Given the description of an element on the screen output the (x, y) to click on. 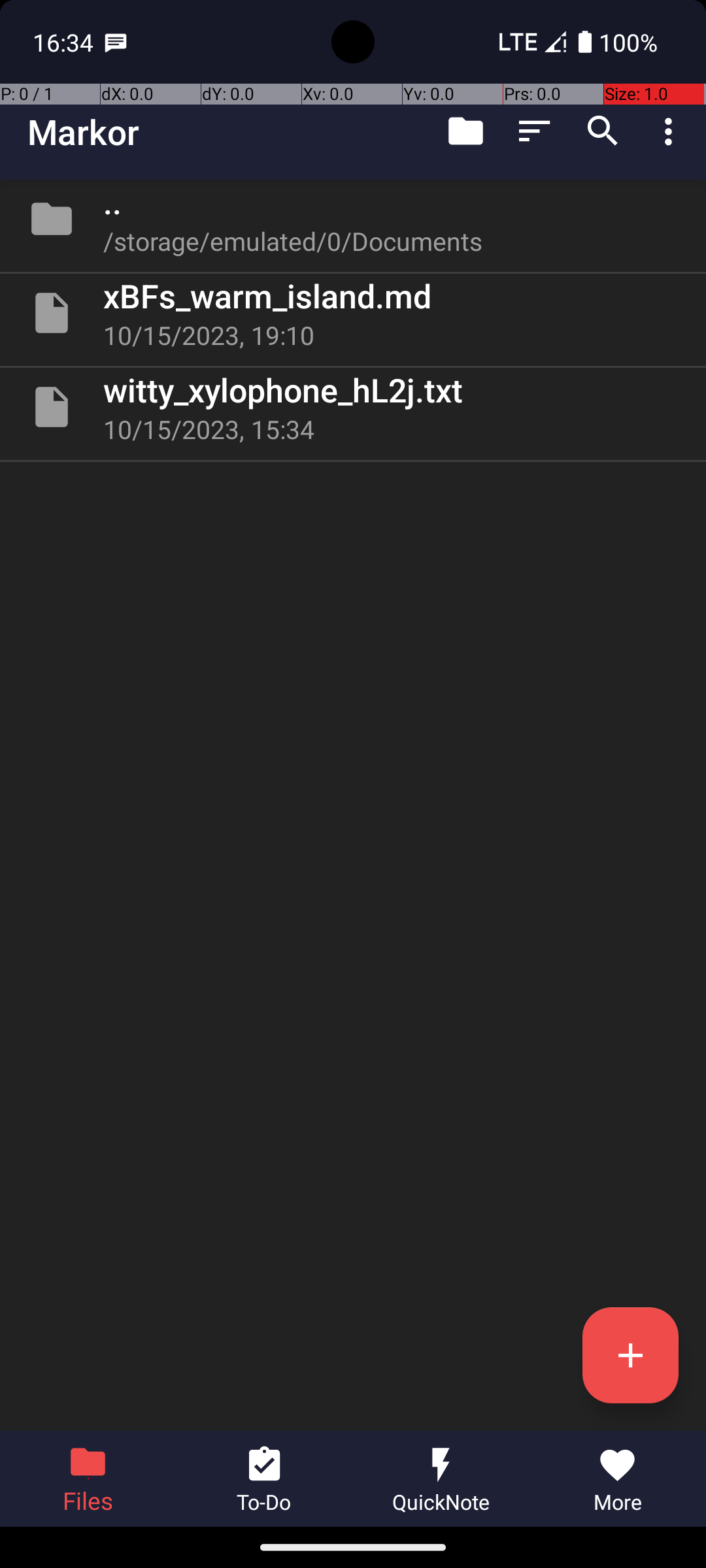
File xBFs_warm_island.md  Element type: android.widget.LinearLayout (353, 312)
File witty_xylophone_hL2j.txt  Element type: android.widget.LinearLayout (353, 406)
16:34 Element type: android.widget.TextView (64, 41)
